Given the description of an element on the screen output the (x, y) to click on. 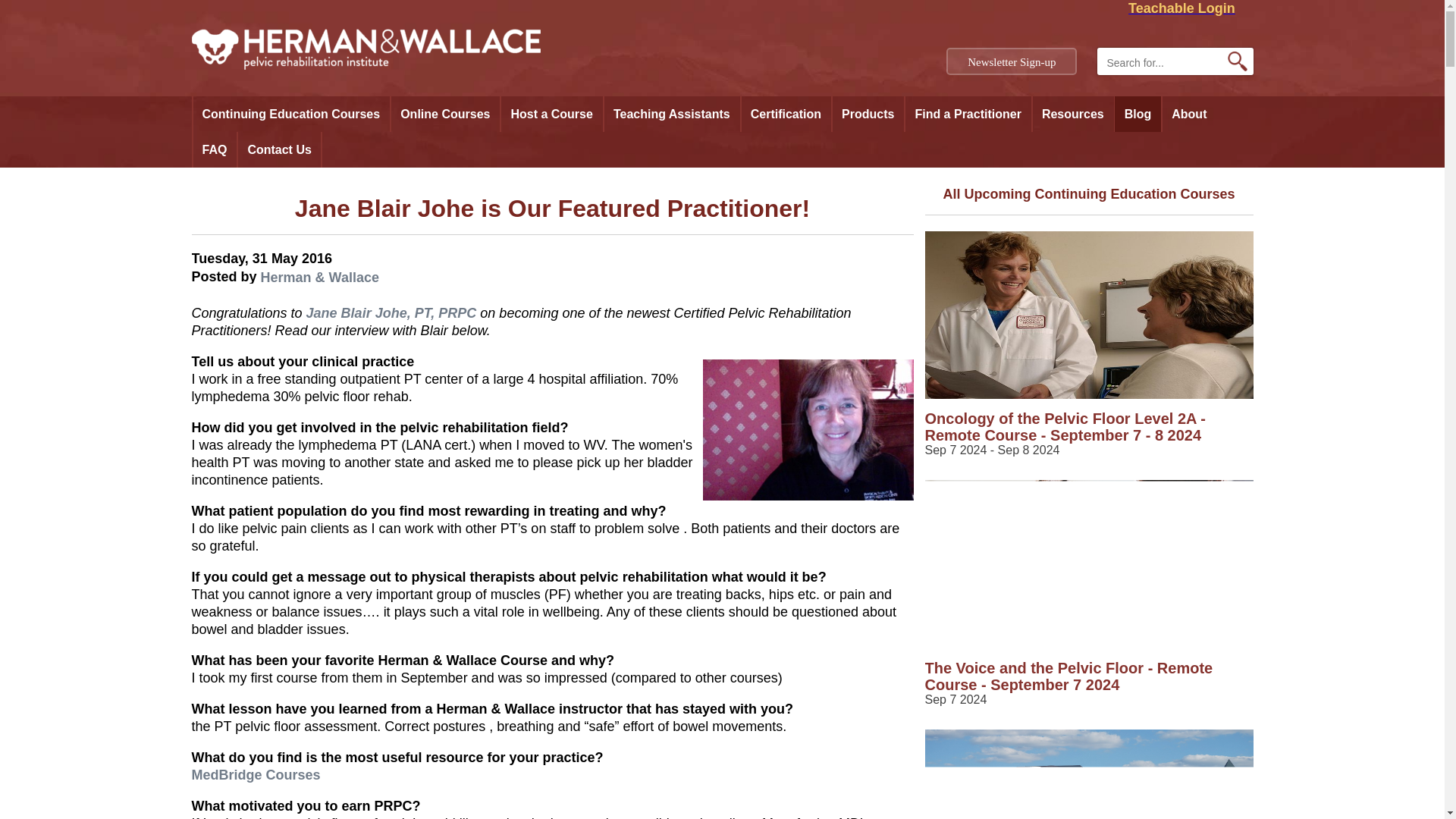
Contact Us (278, 149)
Teaching Assistants (671, 113)
Products (867, 113)
Newsletter Sign-up (1011, 61)
About (1188, 113)
Blog (1138, 113)
Search (1237, 61)
Search (1237, 61)
Host a Course (551, 113)
FAQ (214, 149)
